Given the description of an element on the screen output the (x, y) to click on. 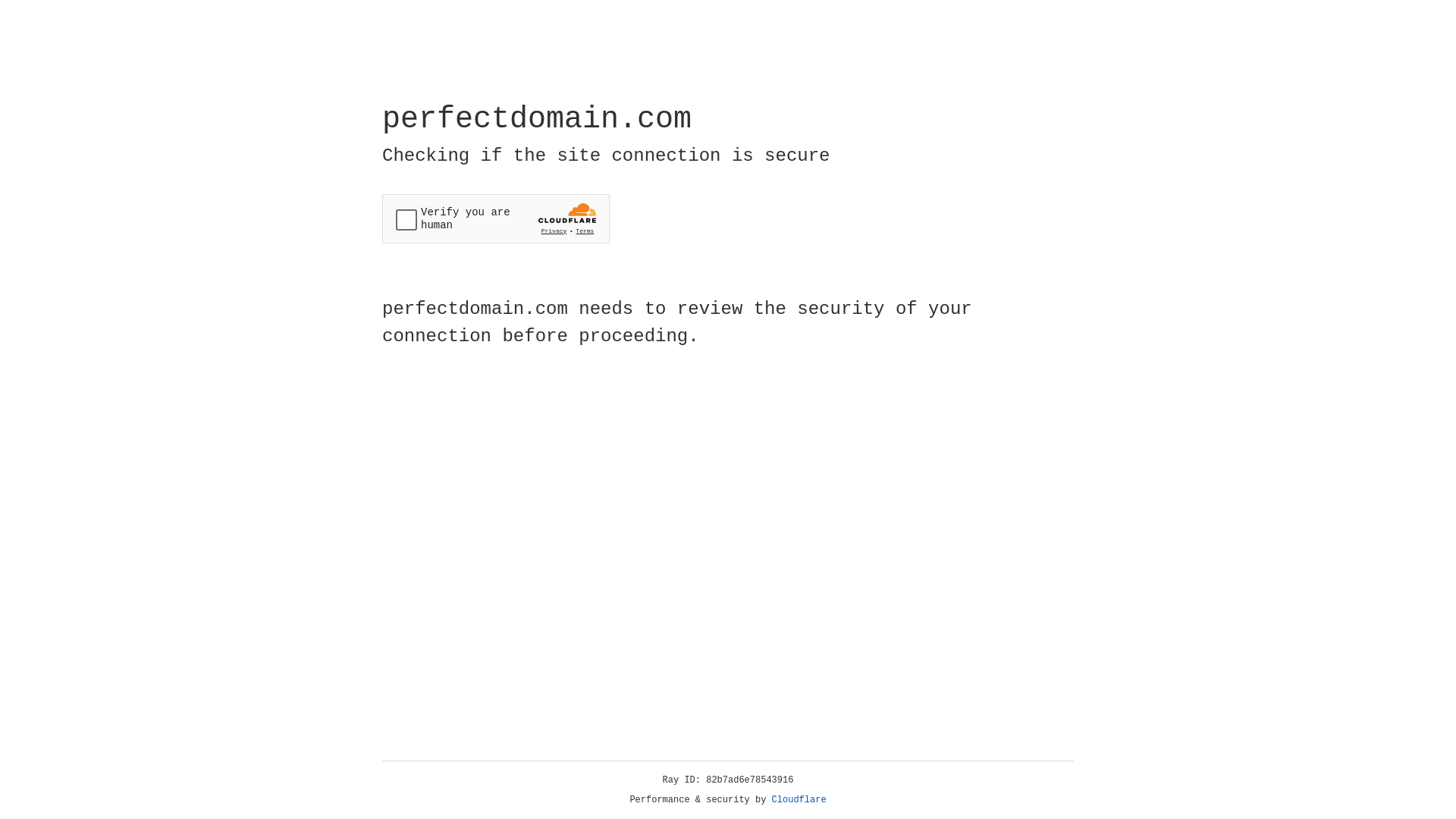
Widget containing a Cloudflare security challenge Element type: hover (495, 218)
Cloudflare Element type: text (798, 799)
